Given the description of an element on the screen output the (x, y) to click on. 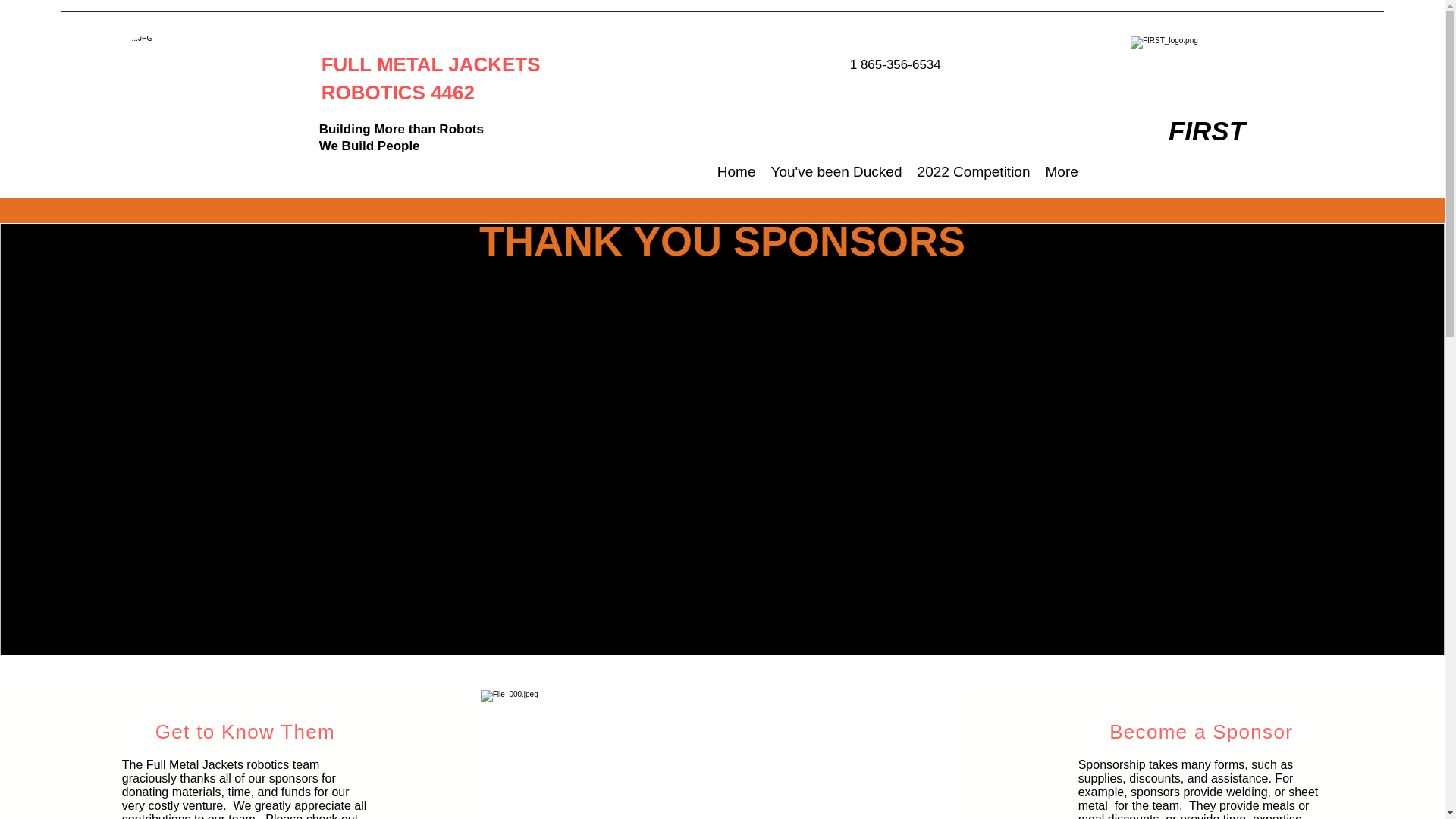
FULL METAL JACKETS   (436, 64)
You've been Ducked (835, 171)
Home (736, 171)
ROBOTICS 4462 (397, 92)
2022 Competition (974, 171)
